Given the description of an element on the screen output the (x, y) to click on. 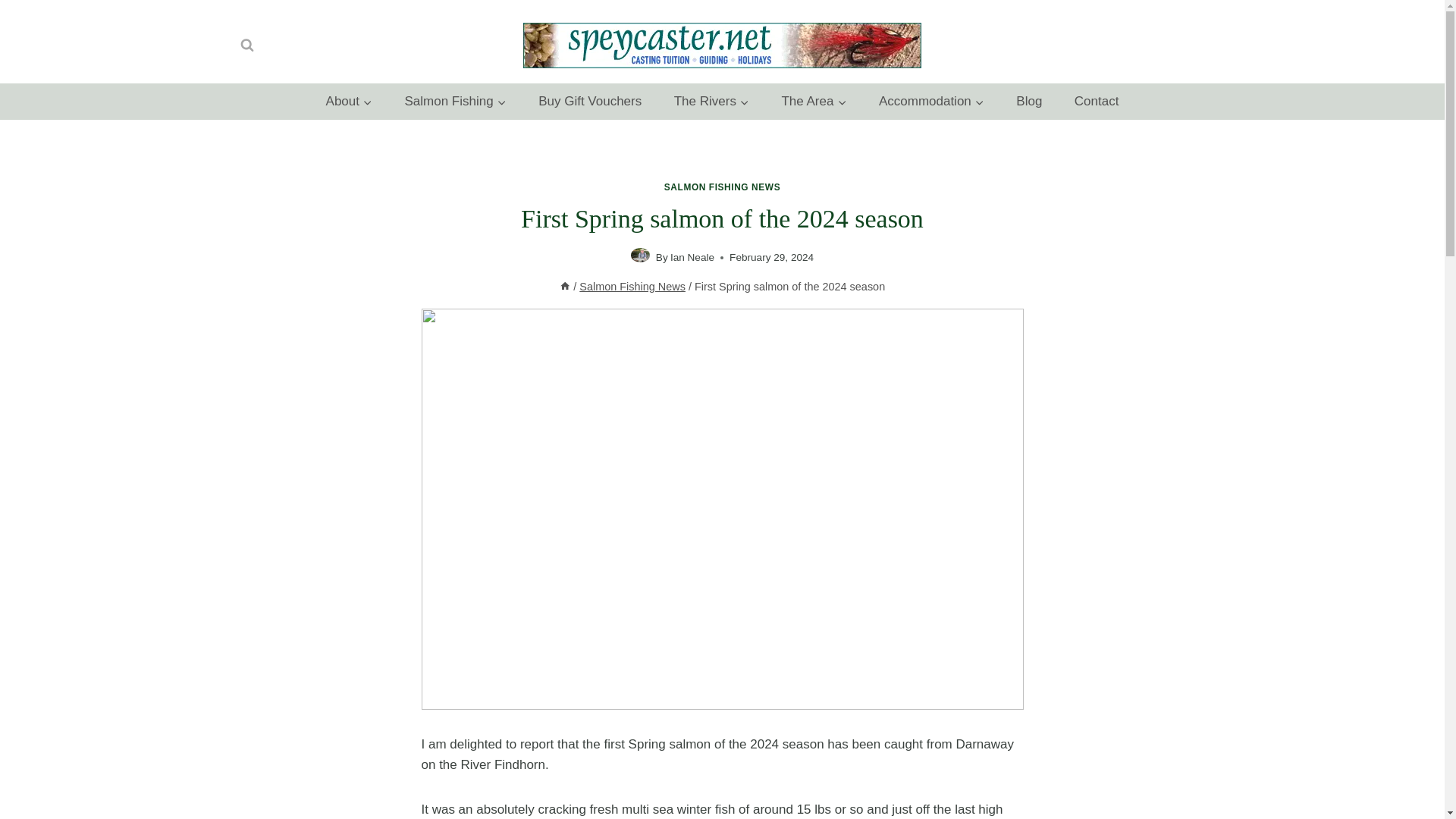
The Area (814, 101)
Buy Gift Vouchers (590, 101)
The Rivers (711, 101)
About (348, 101)
Salmon Fishing (455, 101)
Accommodation (931, 101)
